Given the description of an element on the screen output the (x, y) to click on. 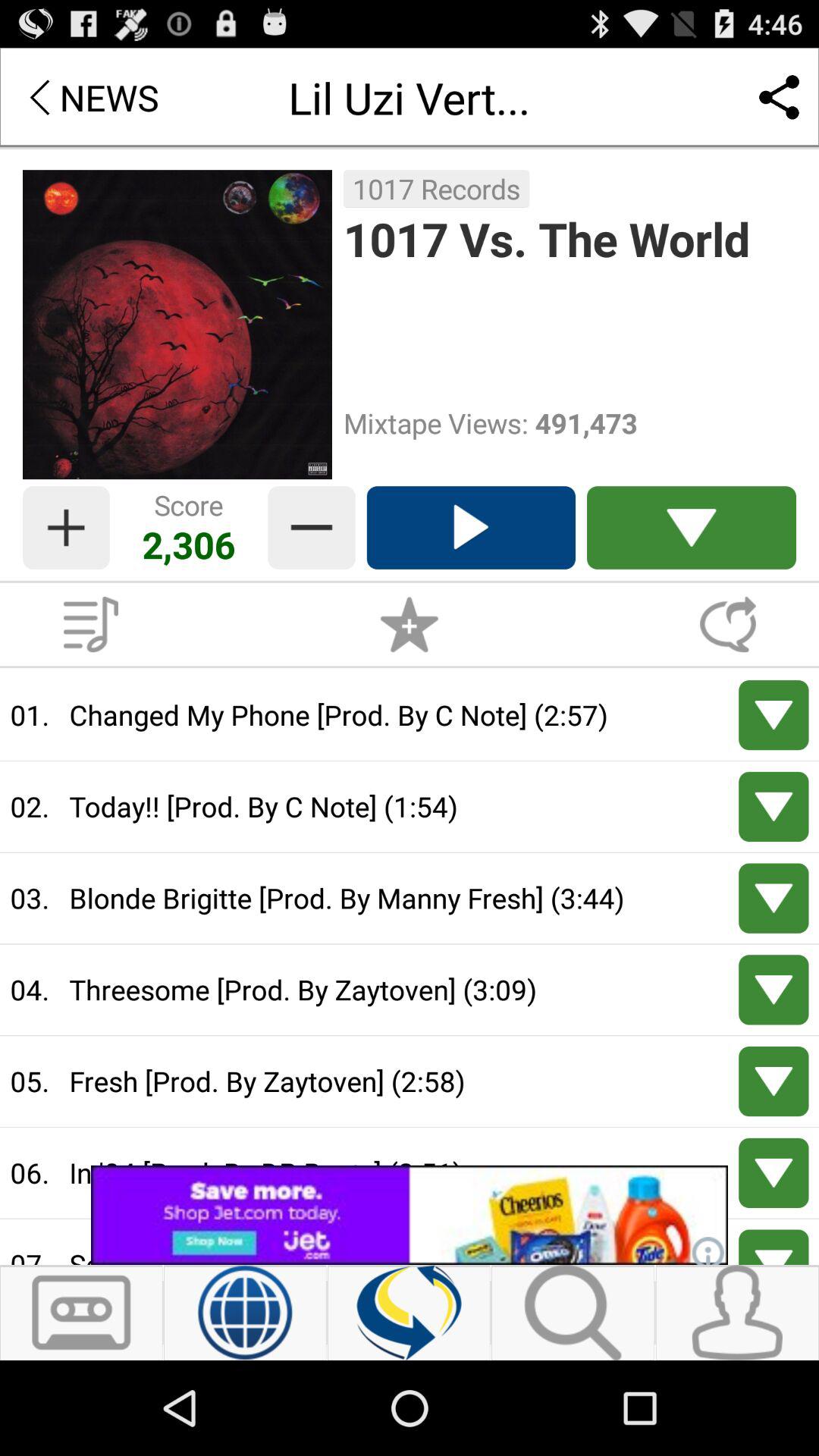
play song (773, 1173)
